Given the description of an element on the screen output the (x, y) to click on. 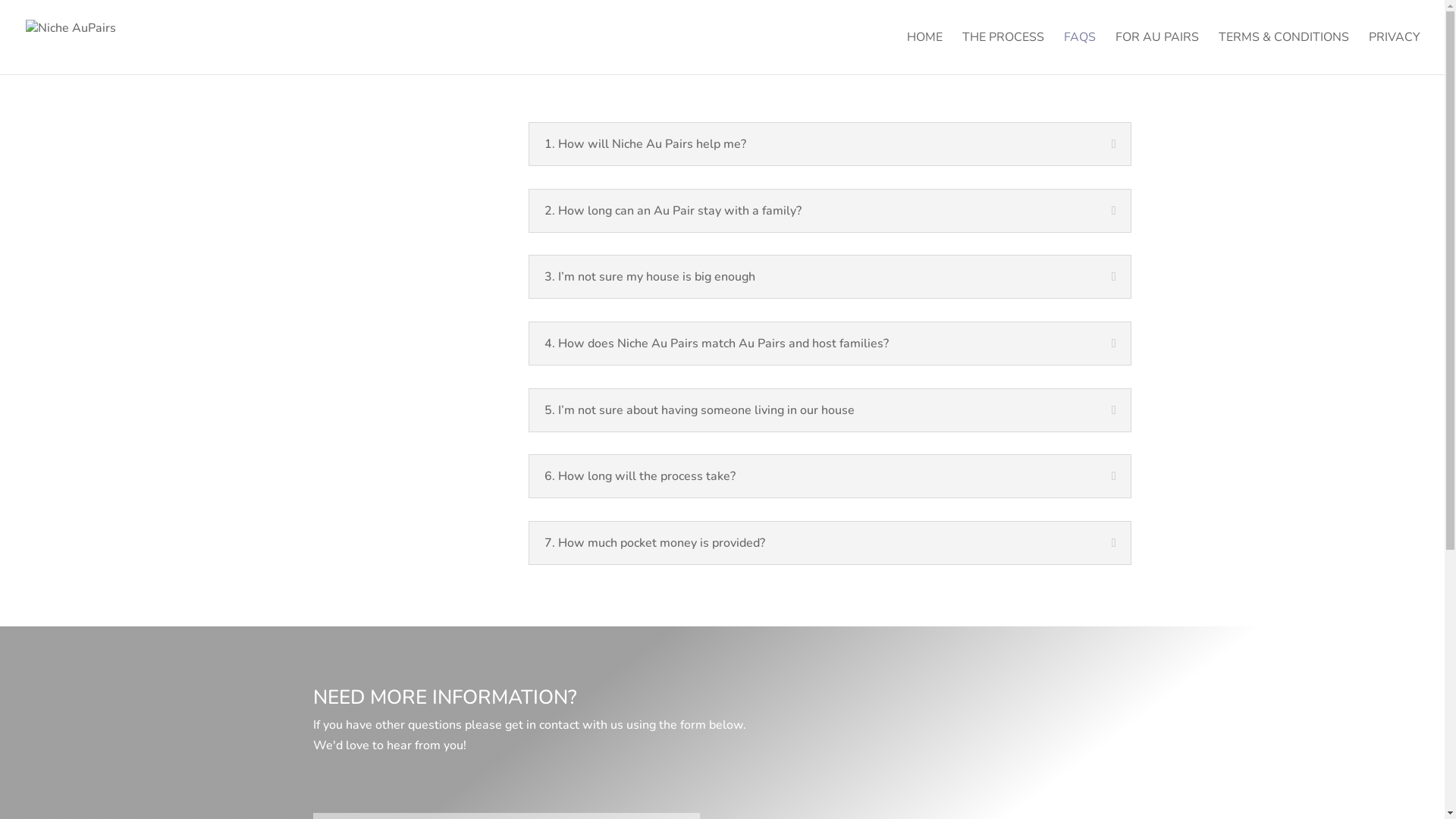
HOME Element type: text (924, 52)
TERMS & CONDITIONS Element type: text (1283, 52)
FAQS Element type: text (1079, 52)
PRIVACY Element type: text (1394, 52)
FOR AU PAIRS Element type: text (1156, 52)
THE PROCESS Element type: text (1003, 52)
